Given the description of an element on the screen output the (x, y) to click on. 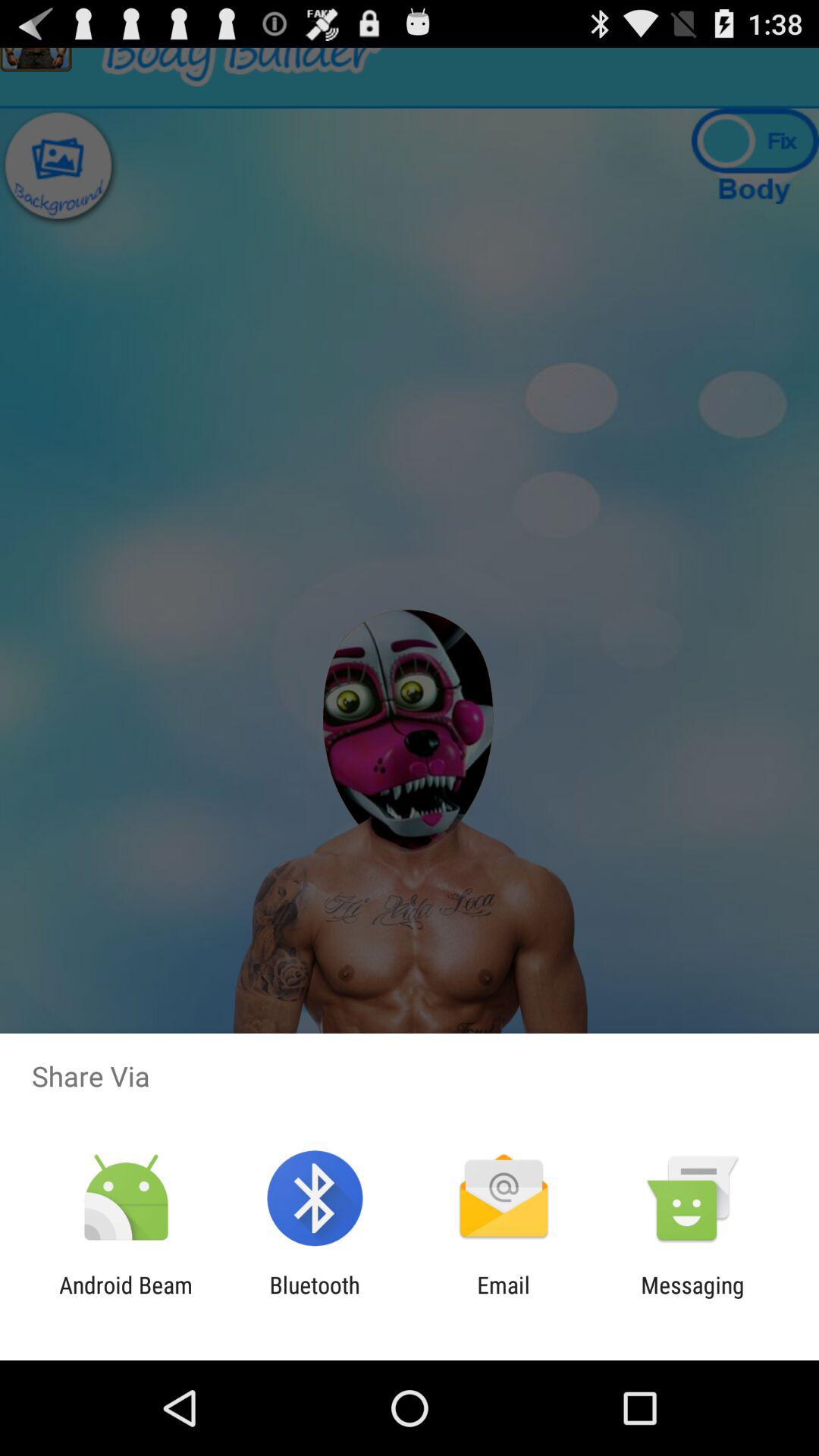
tap messaging (692, 1298)
